Given the description of an element on the screen output the (x, y) to click on. 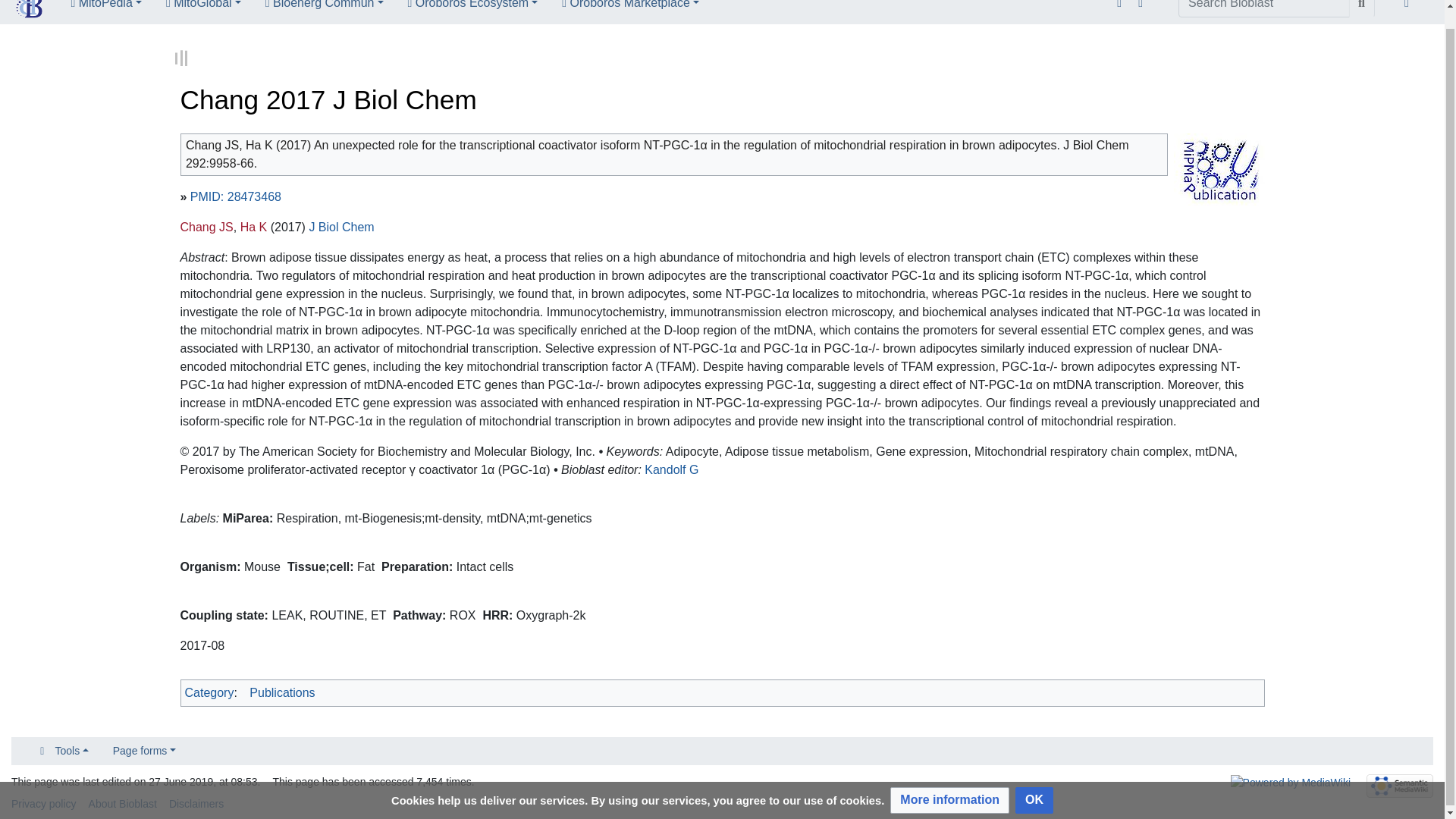
J Biol Chem (341, 224)
Publications in the MiPMap (1219, 165)
Go (1361, 8)
Go to a page with this exact name if it exists (1361, 8)
Category:Publications (281, 689)
Page tools (1143, 9)
You are not logged in. (1410, 9)
Special:Categories (209, 689)
Visit the main page (28, 6)
Kandolf G (671, 467)
